Given the description of an element on the screen output the (x, y) to click on. 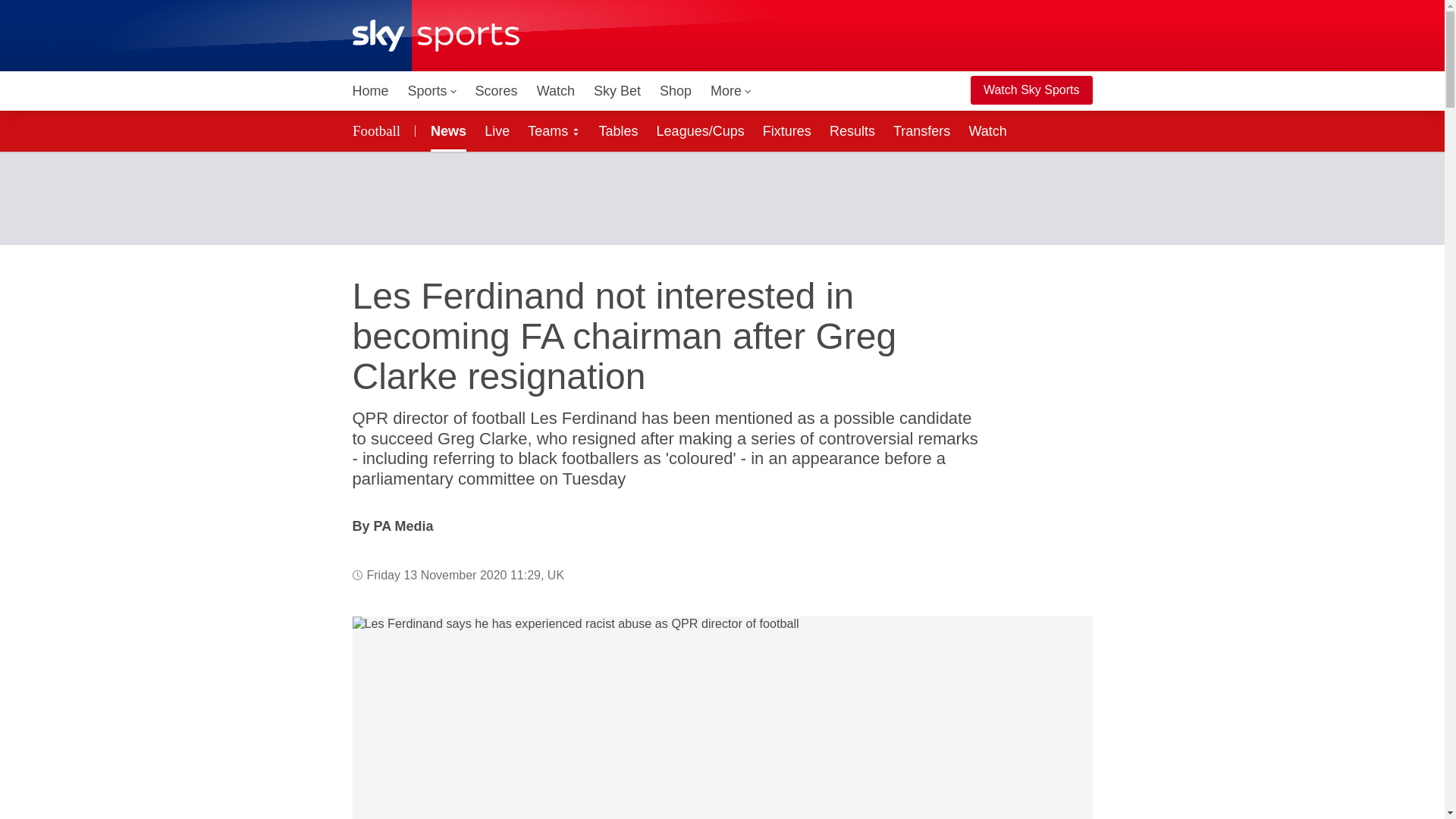
Sky Bet (616, 91)
Watch Sky Sports (1032, 90)
Scores (496, 91)
Home (369, 91)
Watch (555, 91)
Sports (432, 91)
News (445, 130)
Live (497, 130)
Teams (553, 130)
Football (378, 130)
Shop (675, 91)
More (730, 91)
